Given the description of an element on the screen output the (x, y) to click on. 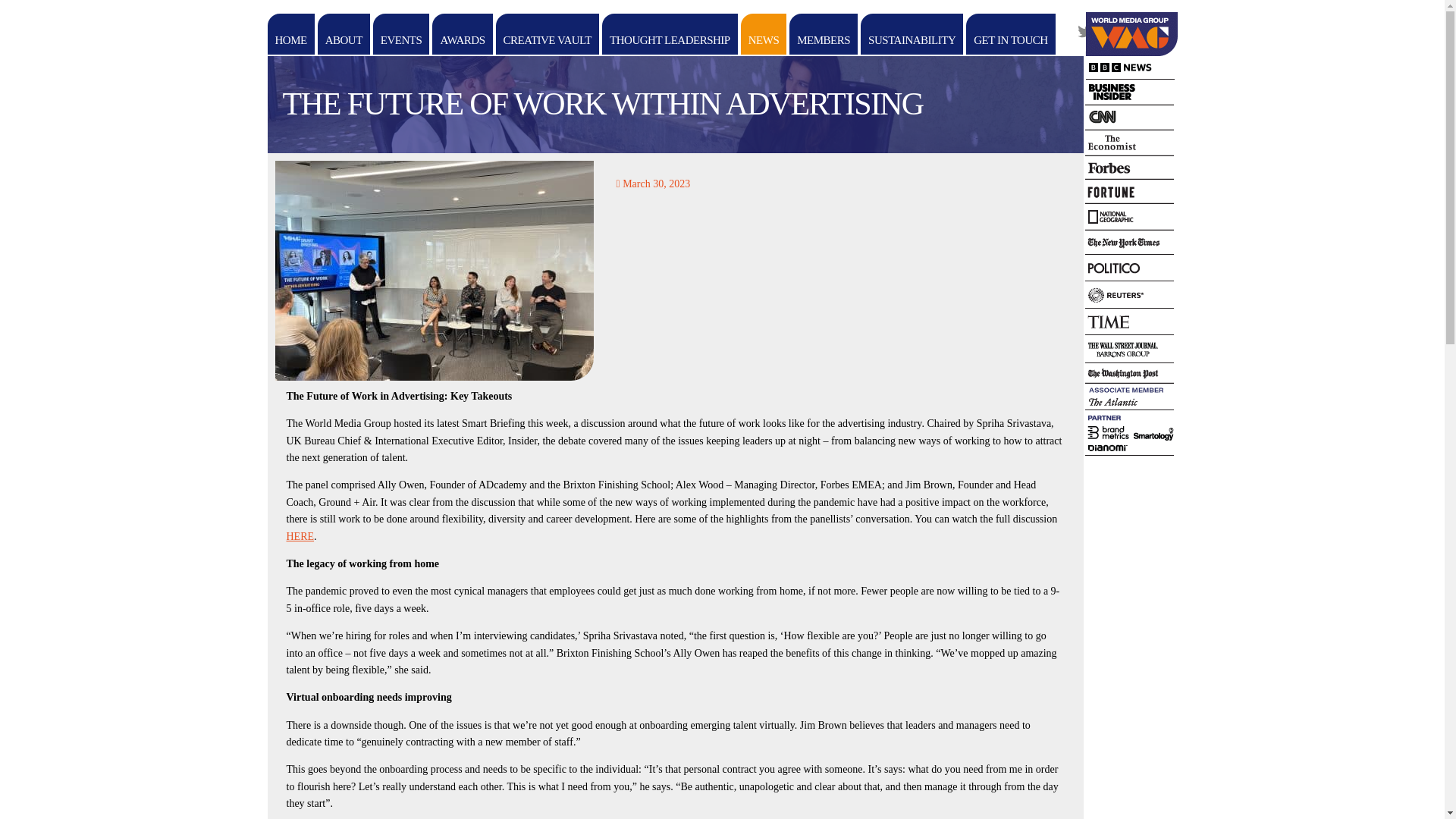
HOME (290, 33)
EVENTS (400, 33)
MEMBERS (823, 33)
SUSTAINABILITY (911, 33)
ABOUT (343, 33)
NEWS (764, 33)
THOUGHT LEADERSHIP (670, 33)
CREATIVE VAULT (547, 33)
AWARDS (462, 33)
